Given the description of an element on the screen output the (x, y) to click on. 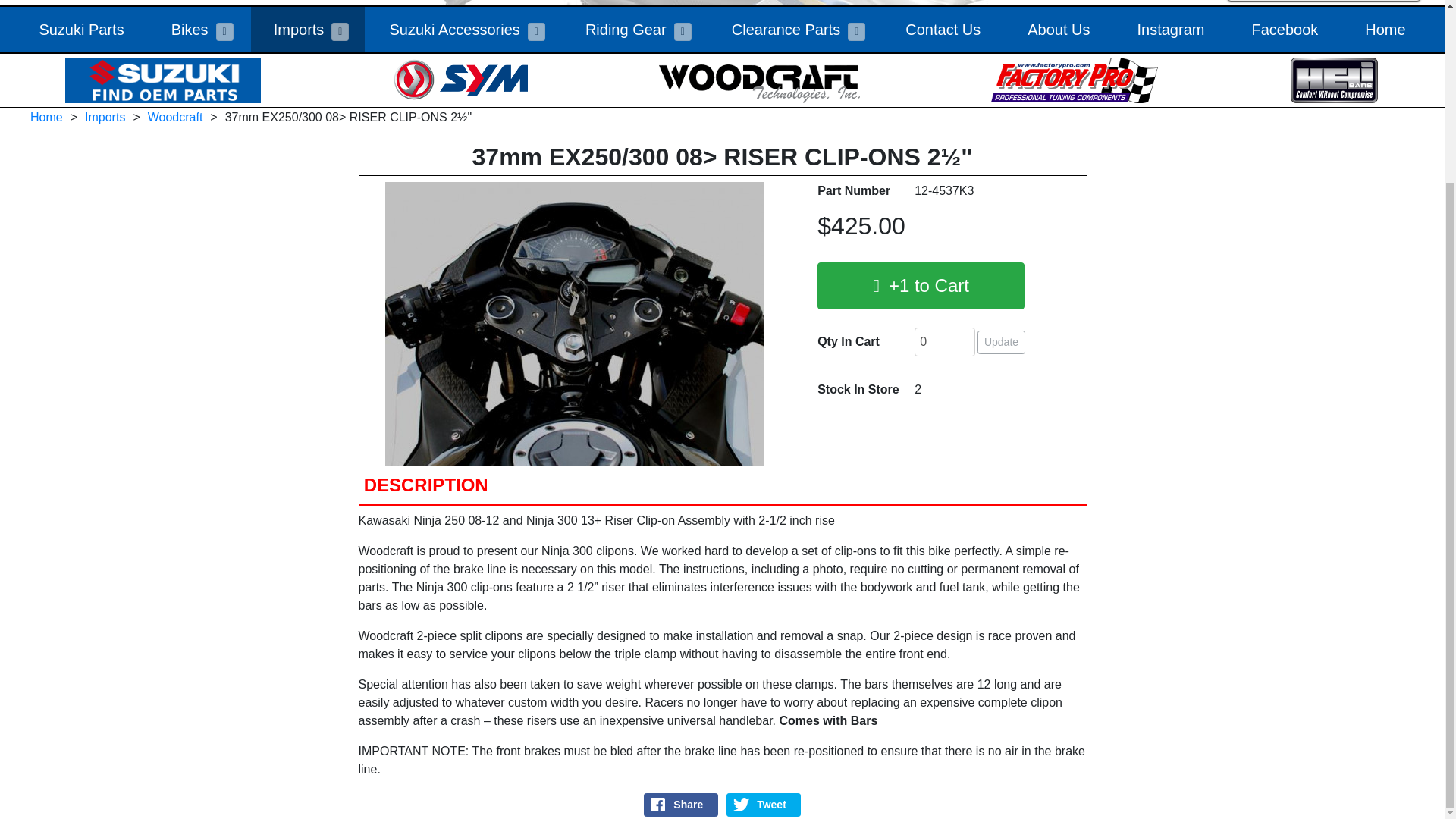
0 (944, 341)
Woodcraft Technologies (759, 80)
Suzuki - Find OEM Parts (162, 80)
Suzuki Parts (81, 29)
Imports (290, 29)
Bikes (181, 29)
SYM Scooters (459, 80)
Factory Pro Racing (1074, 80)
Helibars (1333, 80)
